Given the description of an element on the screen output the (x, y) to click on. 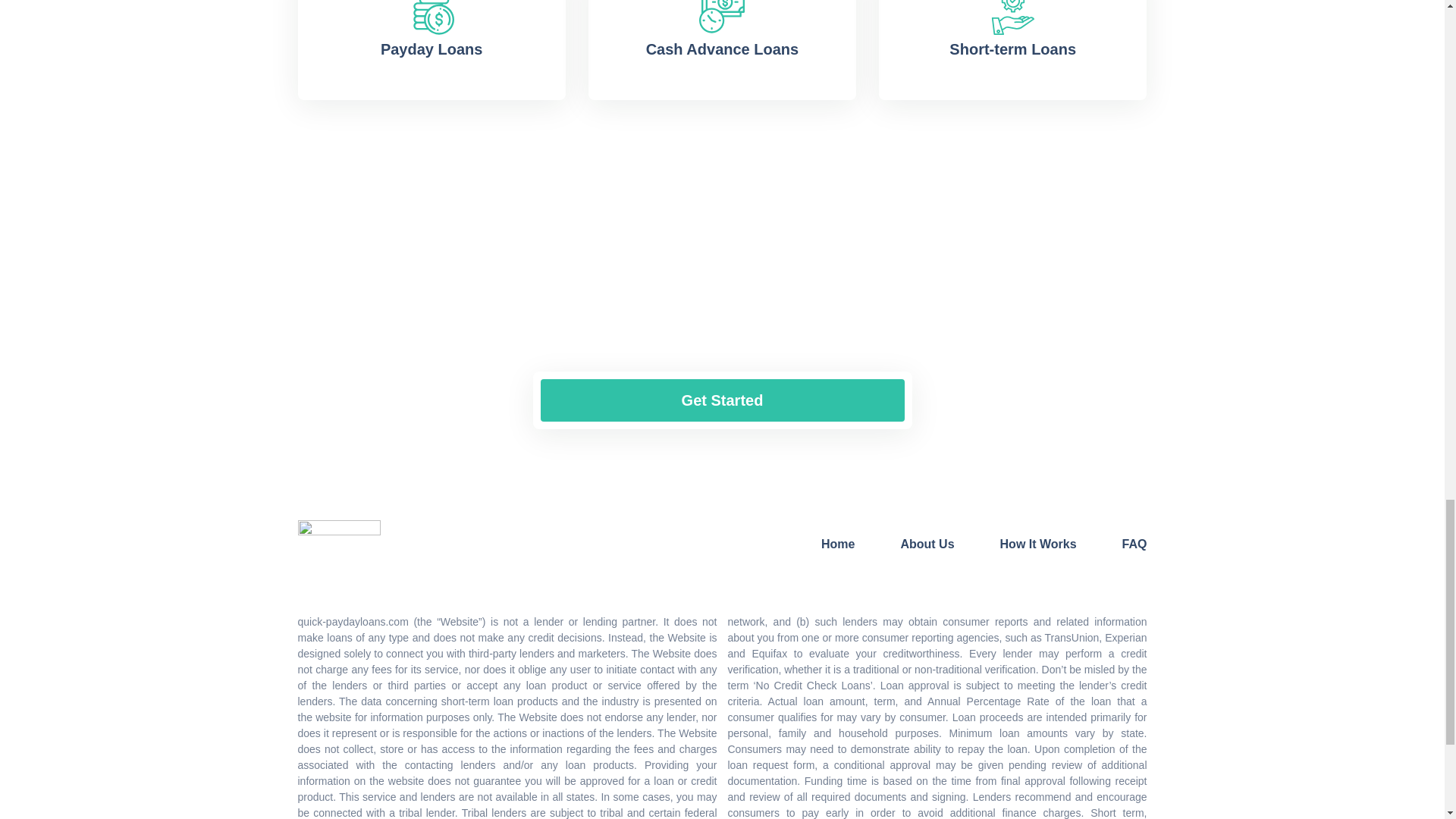
Get Started (722, 400)
About Us (926, 543)
Home (837, 543)
How It Works (1038, 543)
FAQ (1134, 543)
